Given the description of an element on the screen output the (x, y) to click on. 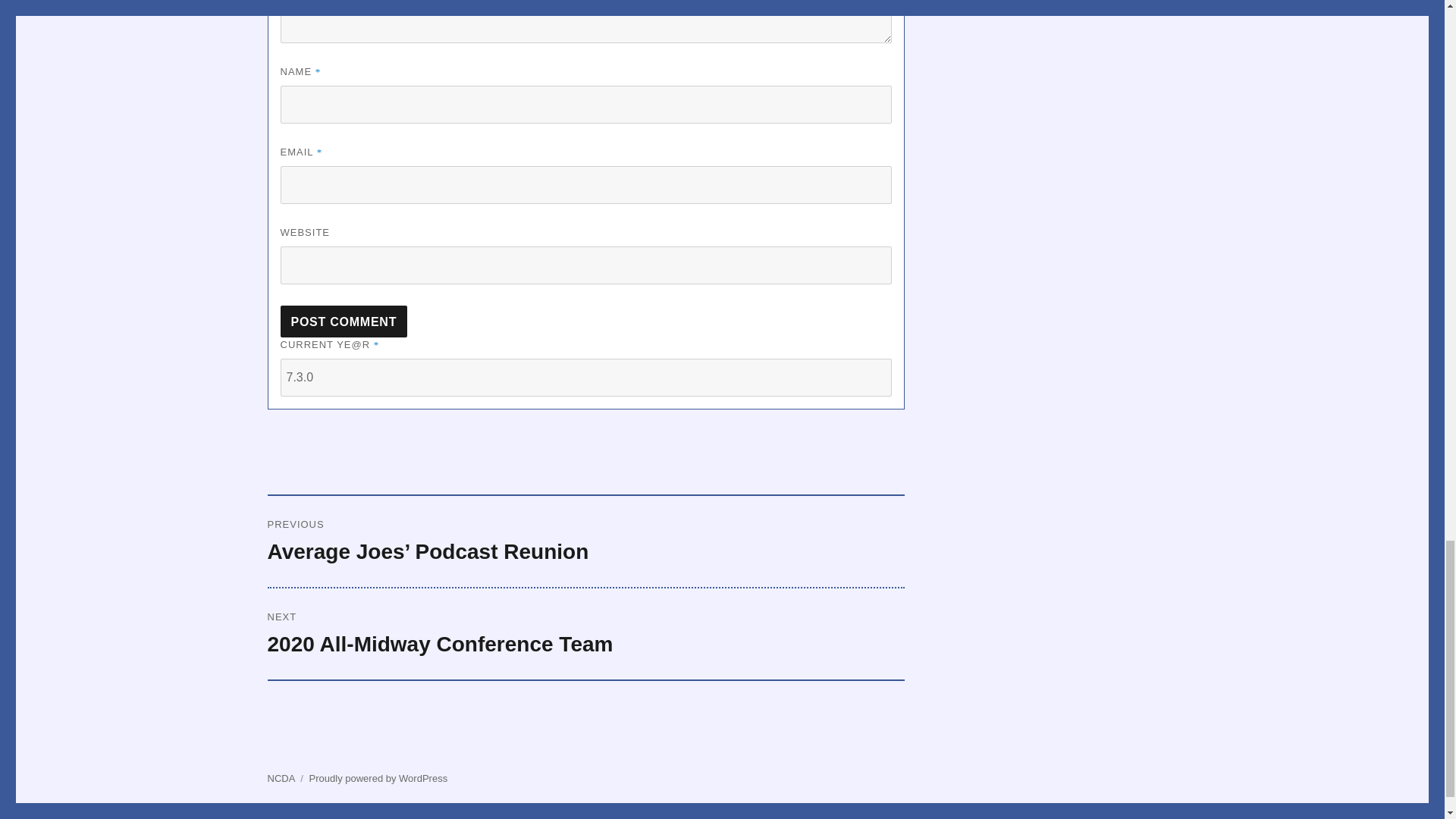
7.3.0 (586, 377)
Post Comment (344, 321)
